Given the description of an element on the screen output the (x, y) to click on. 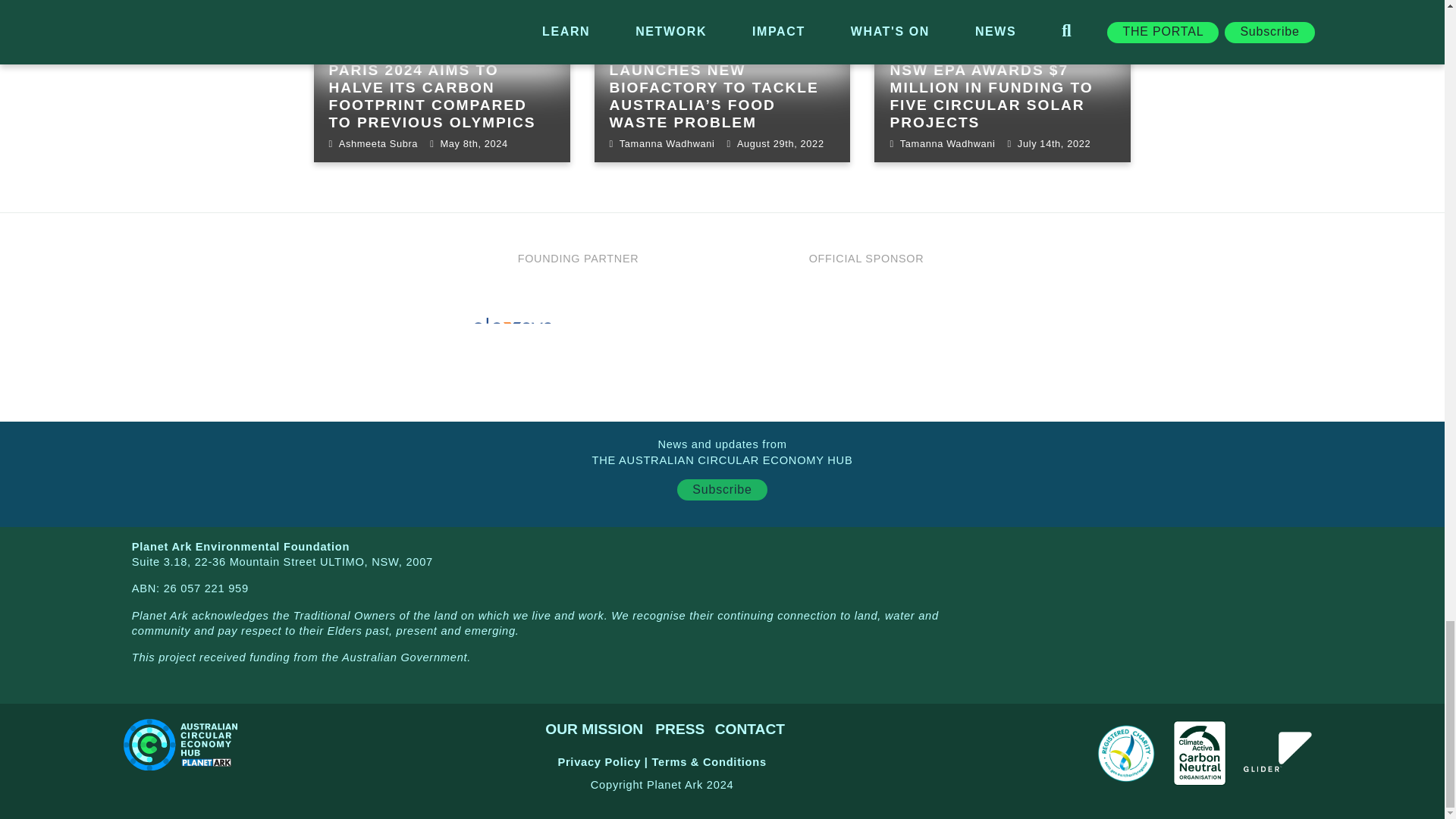
Subscribe (722, 489)
